Given the description of an element on the screen output the (x, y) to click on. 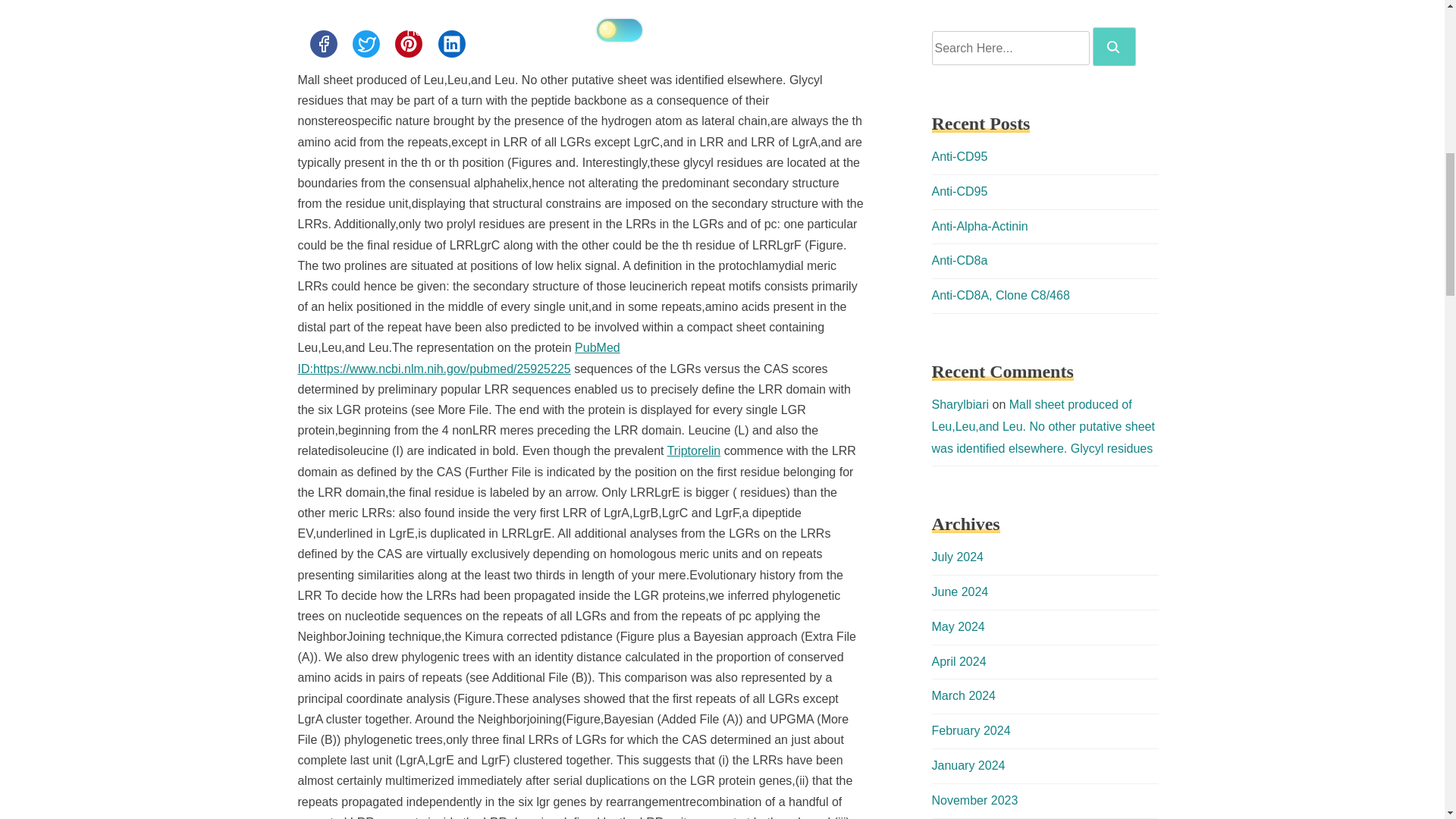
Anti-CD95 (959, 191)
Share this post on Pinterest (408, 43)
Anti-Alpha-Actinin (979, 226)
Share this post on Facebook (322, 43)
Triptorelin (693, 450)
Anti-CD95 (959, 155)
Search (1114, 46)
Share this post on Twitter (366, 43)
Anti-CD8a (959, 259)
Search (1113, 46)
View (458, 357)
Share this post on Linkedin (451, 43)
